Given the description of an element on the screen output the (x, y) to click on. 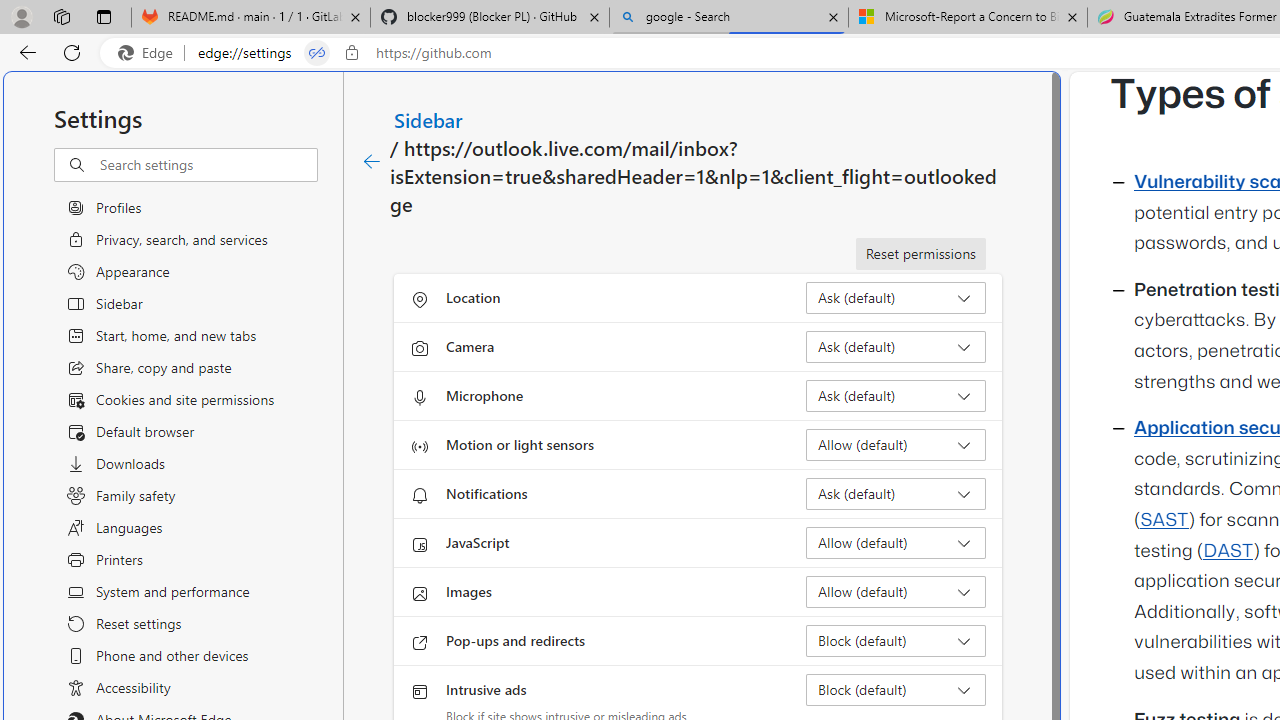
Camera Ask (default) (895, 346)
Search settings (207, 165)
Sidebar (429, 119)
SAST (1164, 520)
Pop-ups and redirects Block (default) (895, 640)
Intrusive ads Block (default) (895, 689)
Images Allow (default) (895, 591)
Motion or light sensors Allow (default) (895, 444)
